Given the description of an element on the screen output the (x, y) to click on. 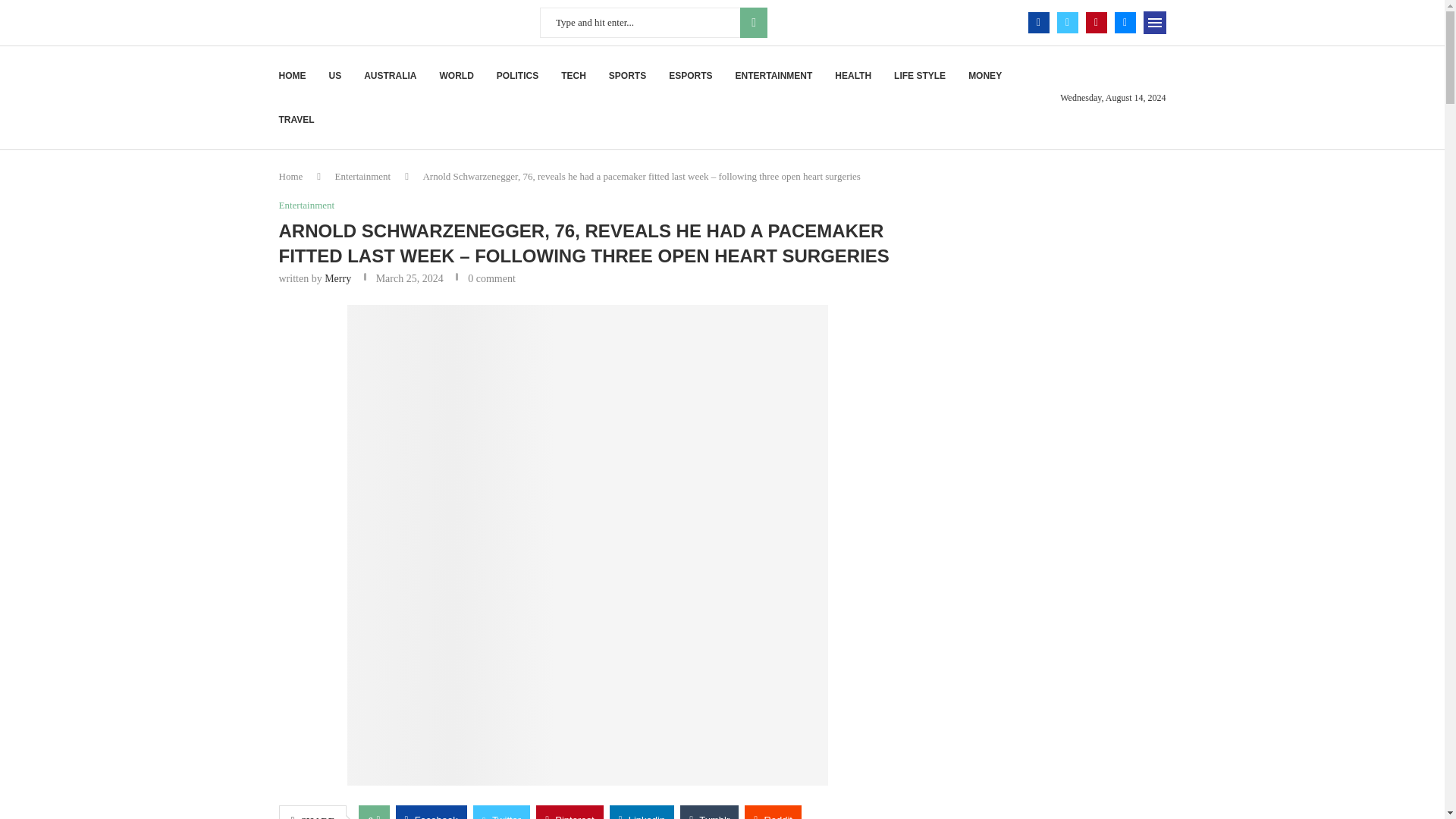
ESPORTS (689, 75)
LIFE STYLE (918, 75)
SEARCH (753, 22)
ENTERTAINMENT (773, 75)
POLITICS (517, 75)
AUSTRALIA (390, 75)
